Given the description of an element on the screen output the (x, y) to click on. 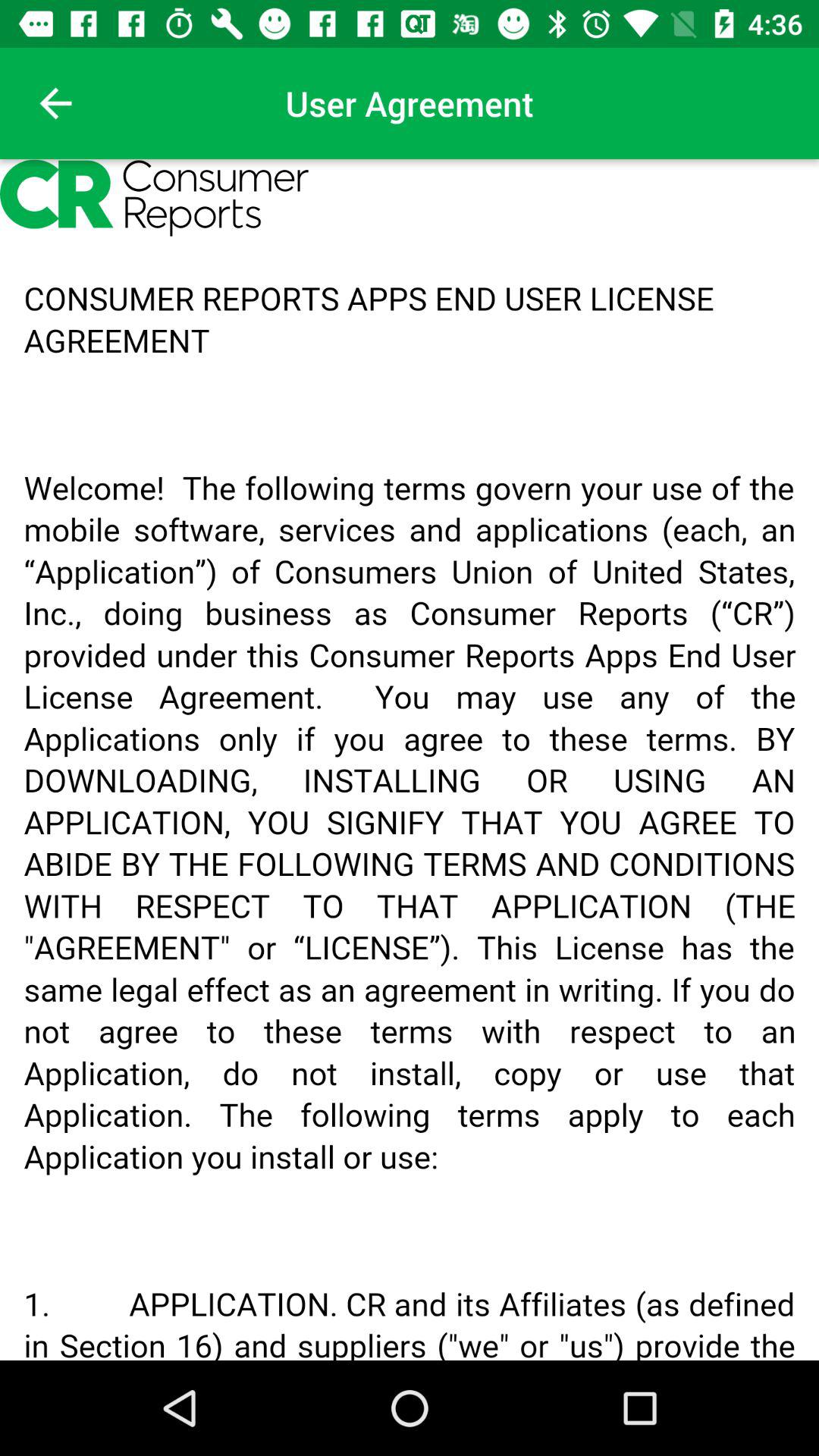
file (409, 759)
